Given the description of an element on the screen output the (x, y) to click on. 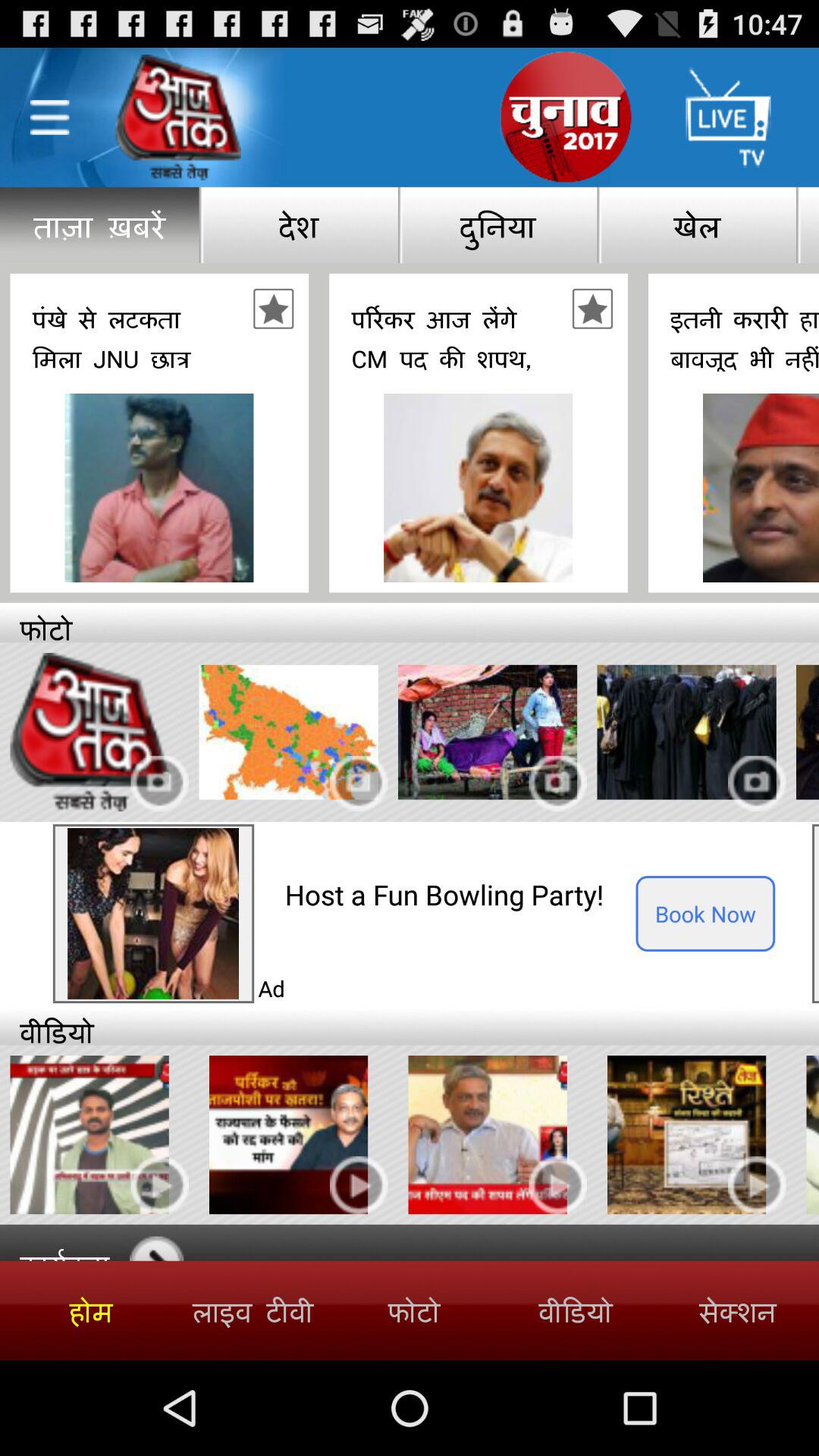
launch icon next to host a fun icon (705, 913)
